Given the description of an element on the screen output the (x, y) to click on. 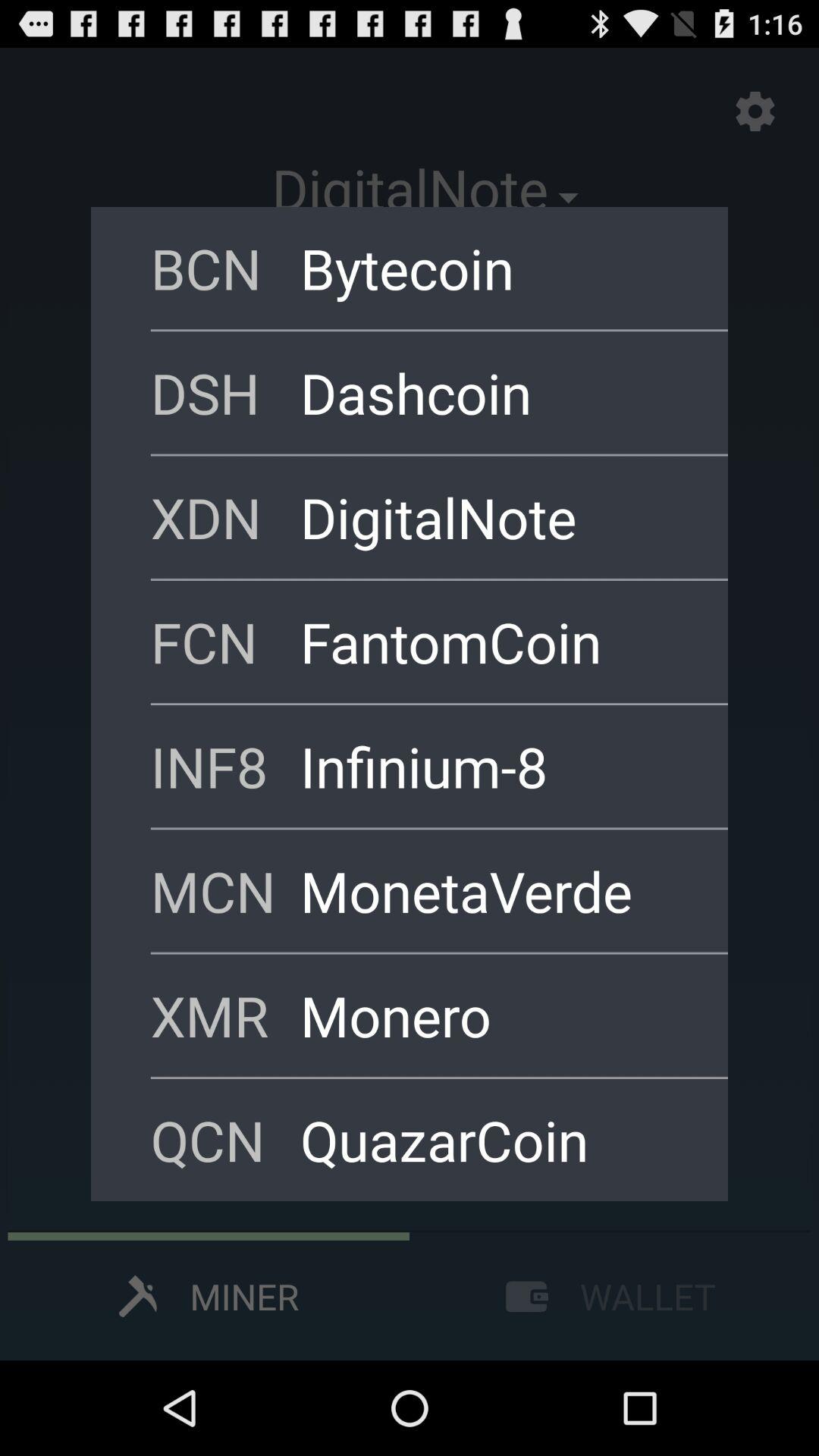
turn off icon to the right of xmr app (494, 1015)
